Given the description of an element on the screen output the (x, y) to click on. 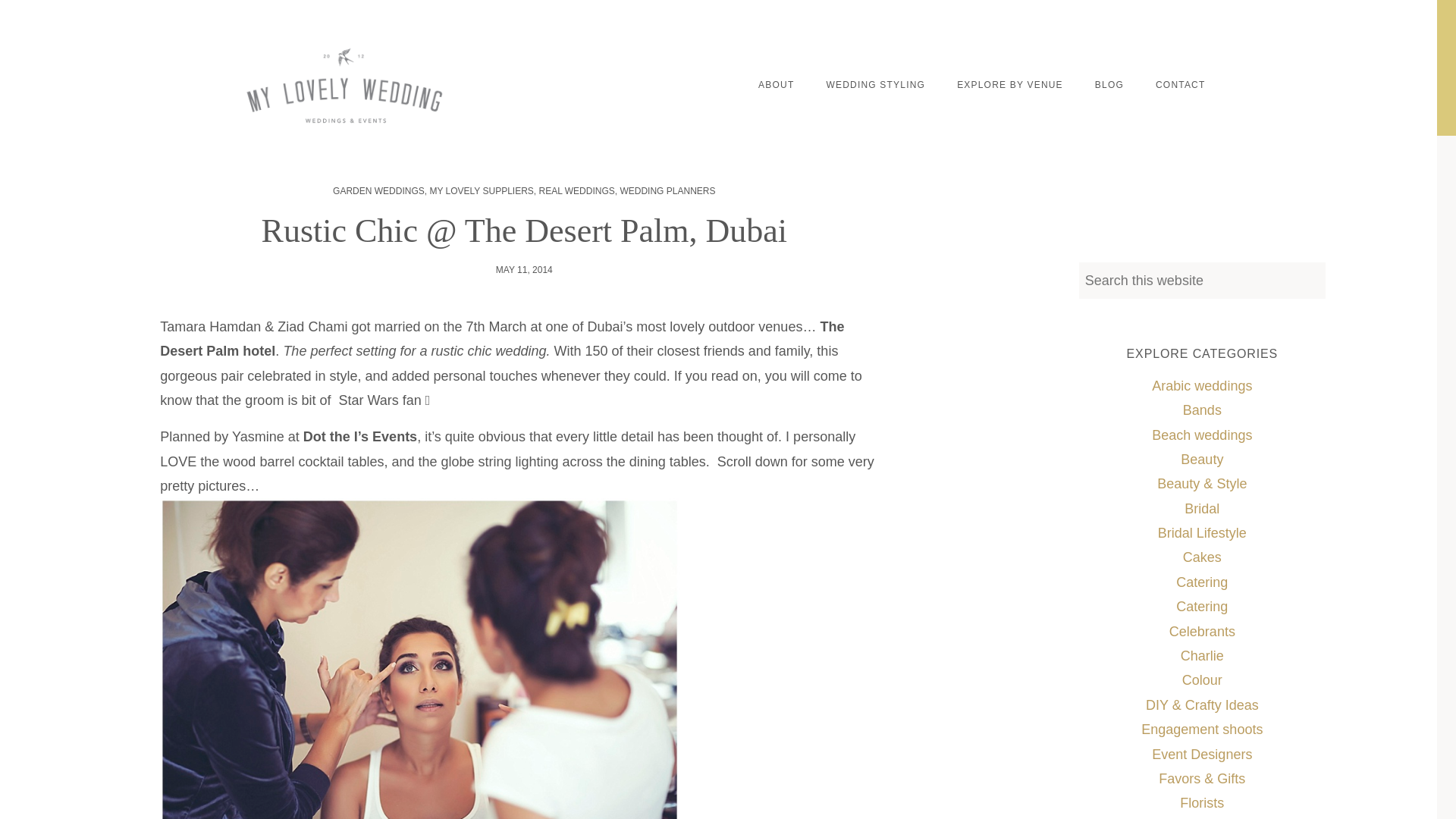
ABOUT (775, 85)
REAL WEDDINGS (576, 190)
GARDEN WEDDINGS (379, 190)
WEDDING PLANNERS (667, 190)
BLOG (1109, 85)
EXPLORE BY VENUE (1009, 85)
MY LOVELY SUPPLIERS (480, 190)
WEDDING STYLING (874, 85)
CONTACT (1180, 85)
